Given the description of an element on the screen output the (x, y) to click on. 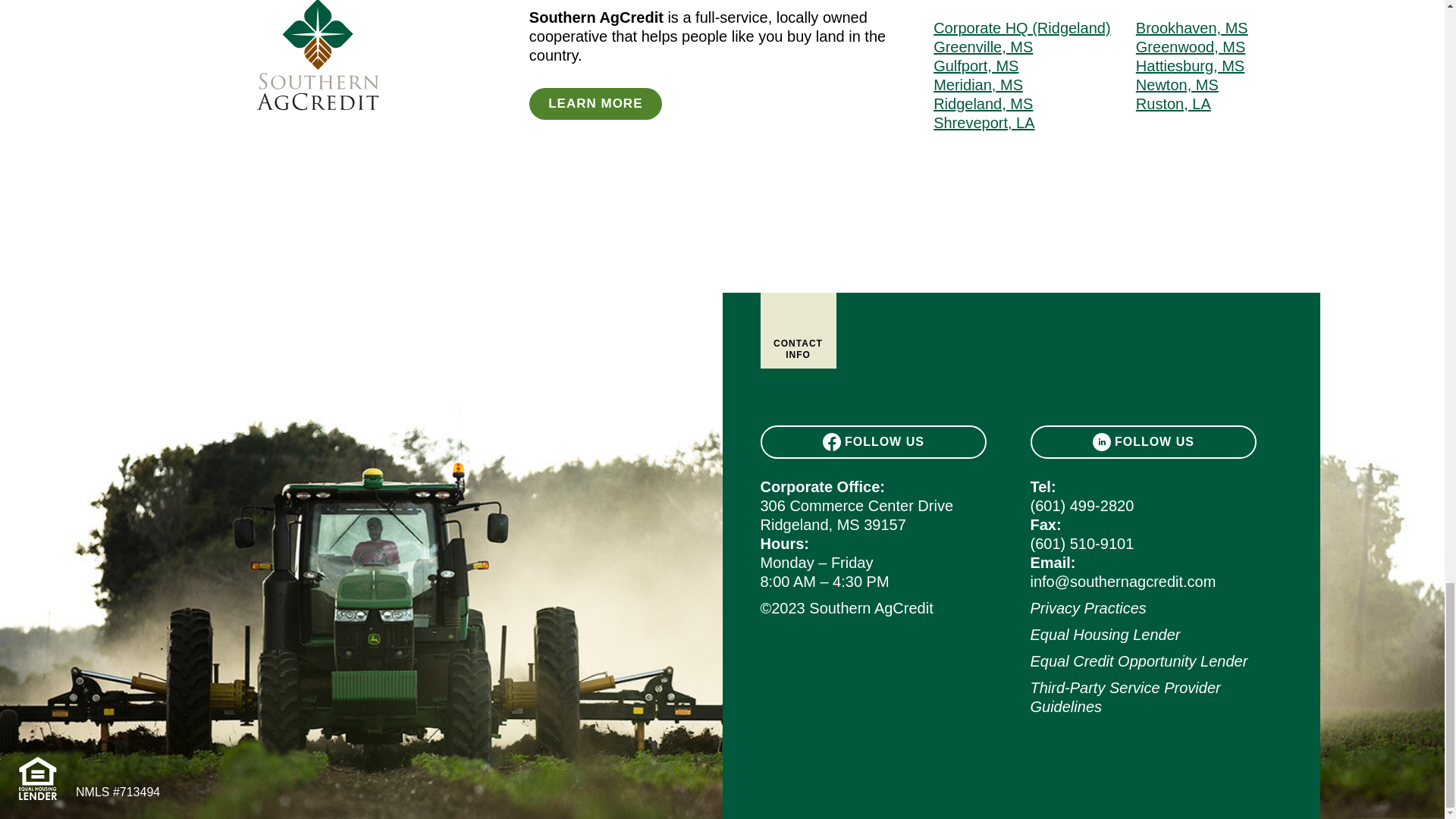
Client (317, 115)
